Given the description of an element on the screen output the (x, y) to click on. 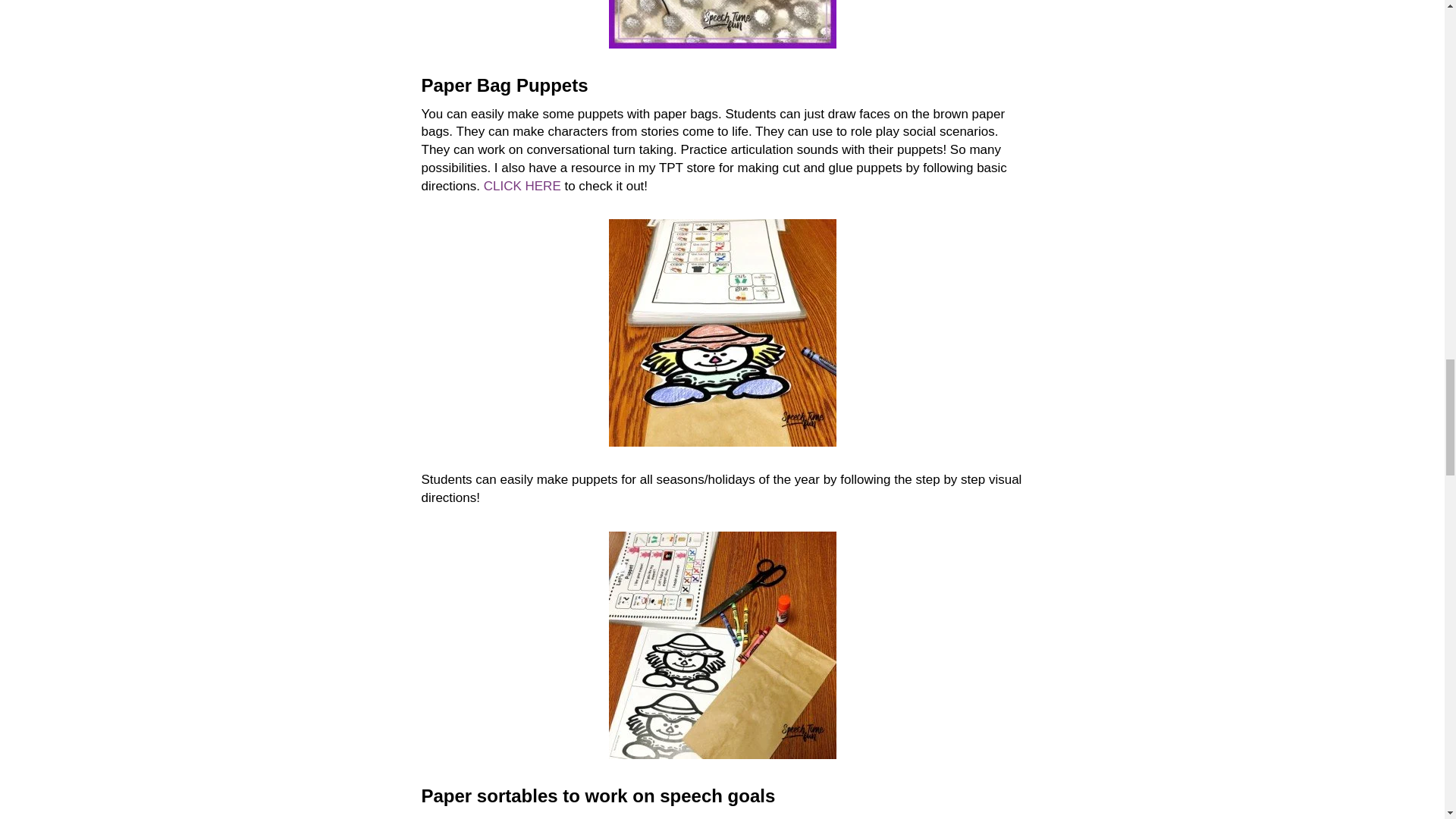
CLICK HERE (521, 186)
